Given the description of an element on the screen output the (x, y) to click on. 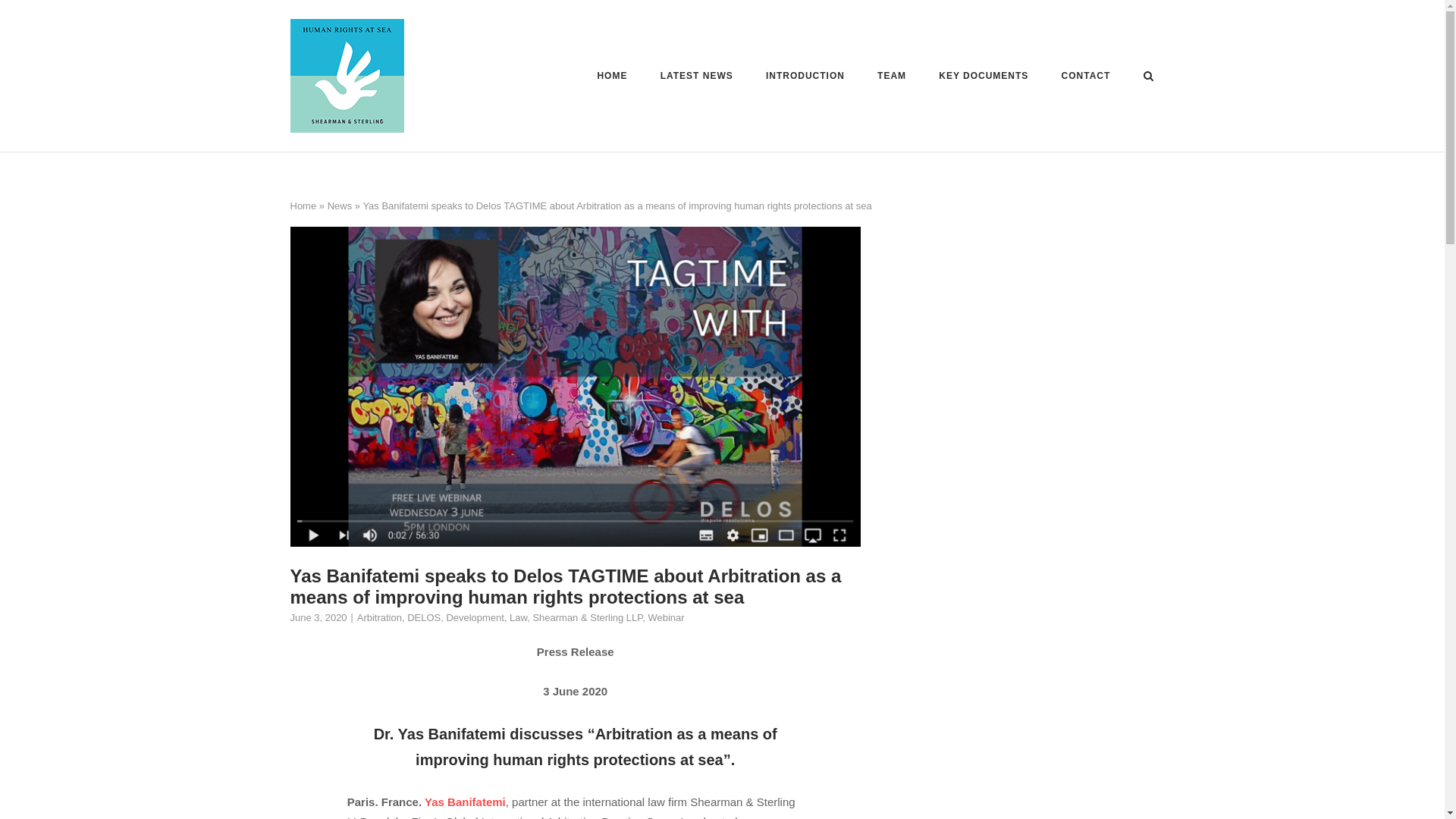
Development (474, 617)
News (339, 205)
Law (518, 617)
Webinar (665, 617)
KEY DOCUMENTS (983, 78)
LATEST NEWS (697, 78)
Home (302, 205)
DELOS (424, 617)
HOME (611, 78)
Yas Banifatemi (465, 801)
